Given the description of an element on the screen output the (x, y) to click on. 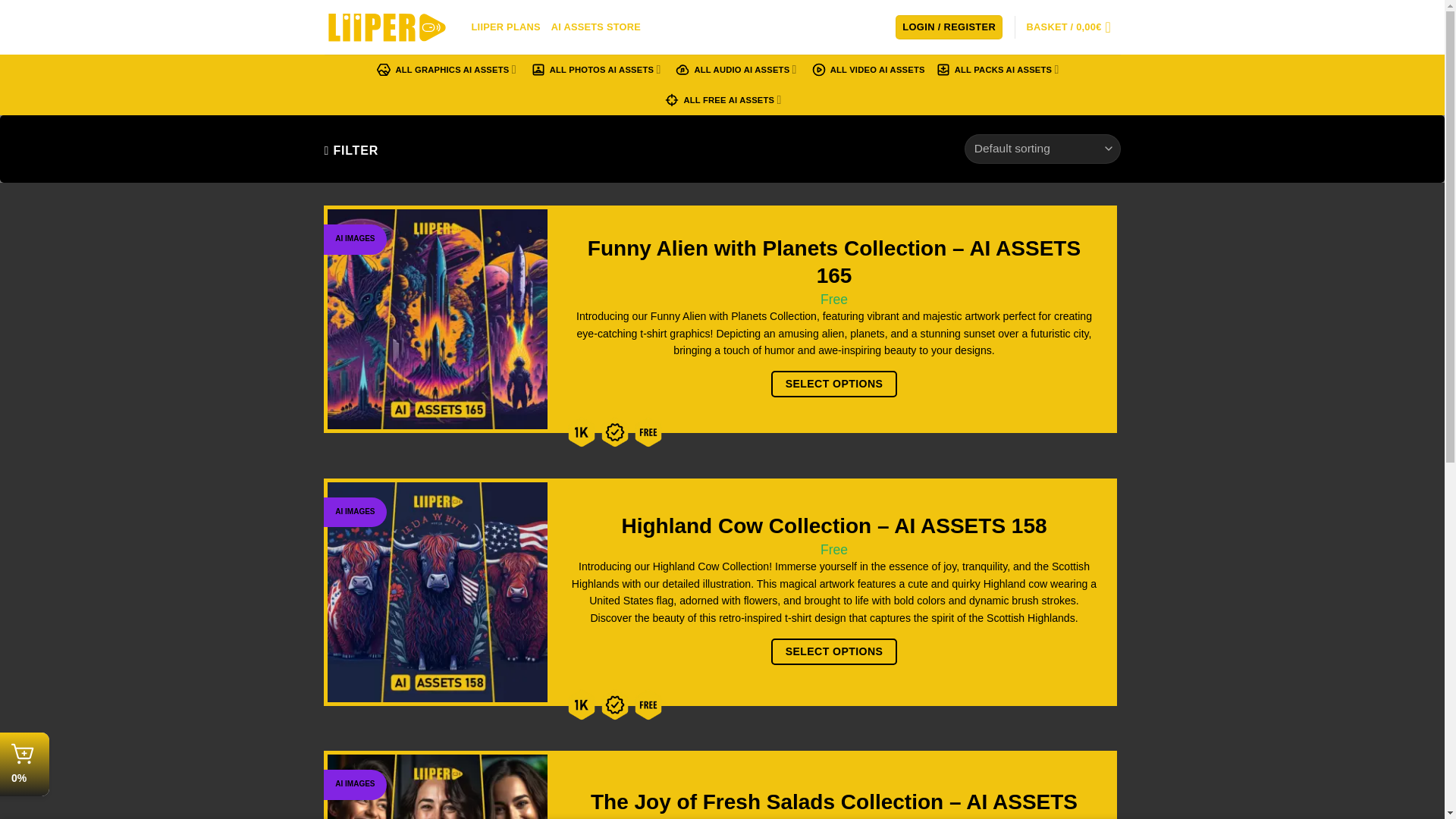
Liiper - Best Online Store to buy AI Assets (386, 27)
Login (949, 27)
AI ASSETS STORE (595, 26)
FREE AI ASSET (648, 704)
USER VERIFIED (614, 704)
ALL GRAPHICS AI ASSETS (447, 69)
LIIPER PLANS (505, 26)
FREE AI ASSET (648, 431)
1K (581, 431)
USER VERIFIED (614, 431)
